Given the description of an element on the screen output the (x, y) to click on. 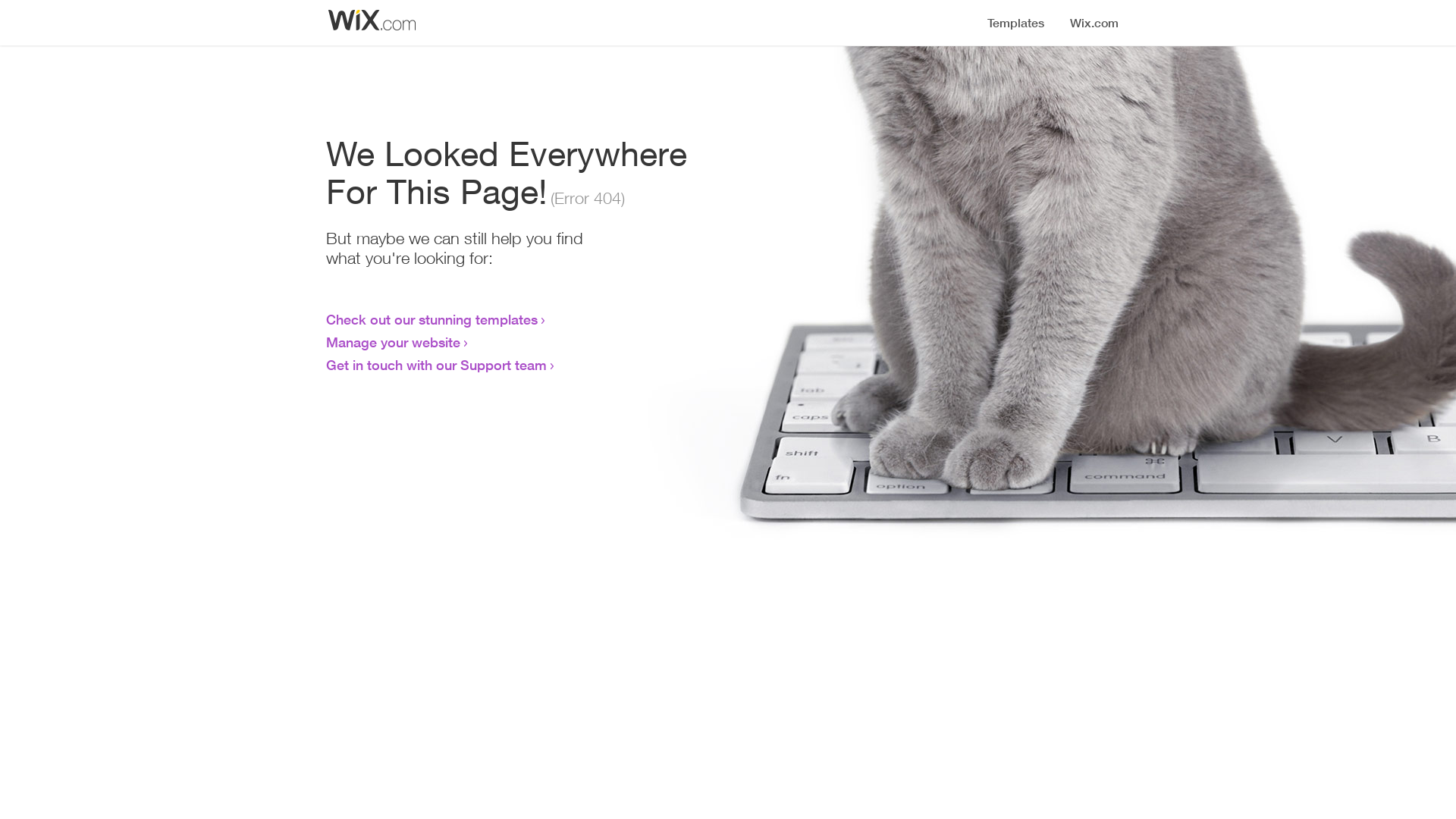
Manage your website Element type: text (393, 341)
Get in touch with our Support team Element type: text (436, 364)
Check out our stunning templates Element type: text (431, 318)
